Given the description of an element on the screen output the (x, y) to click on. 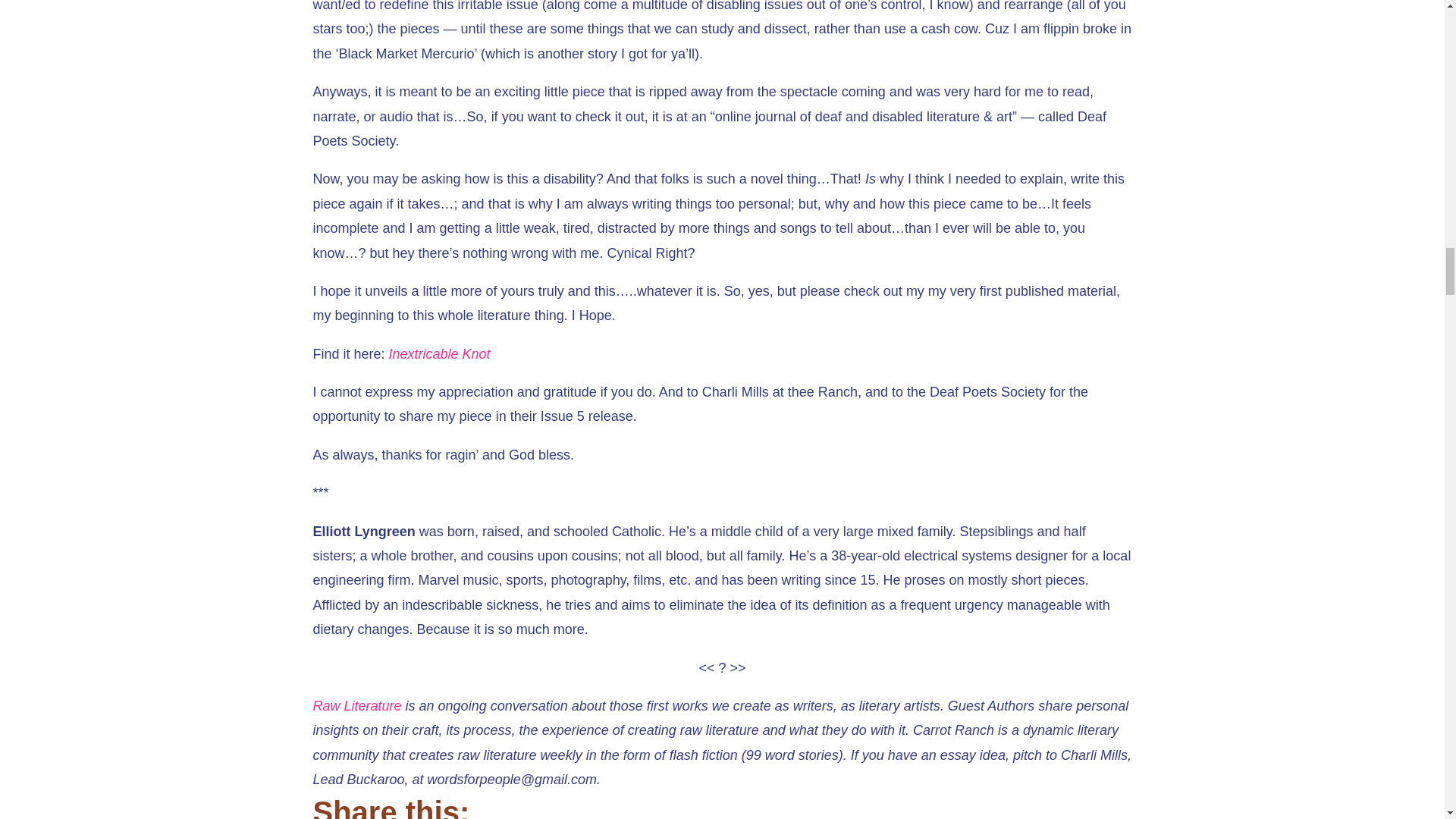
Raw Literature (357, 705)
Inextricable Knot (439, 353)
